Given the description of an element on the screen output the (x, y) to click on. 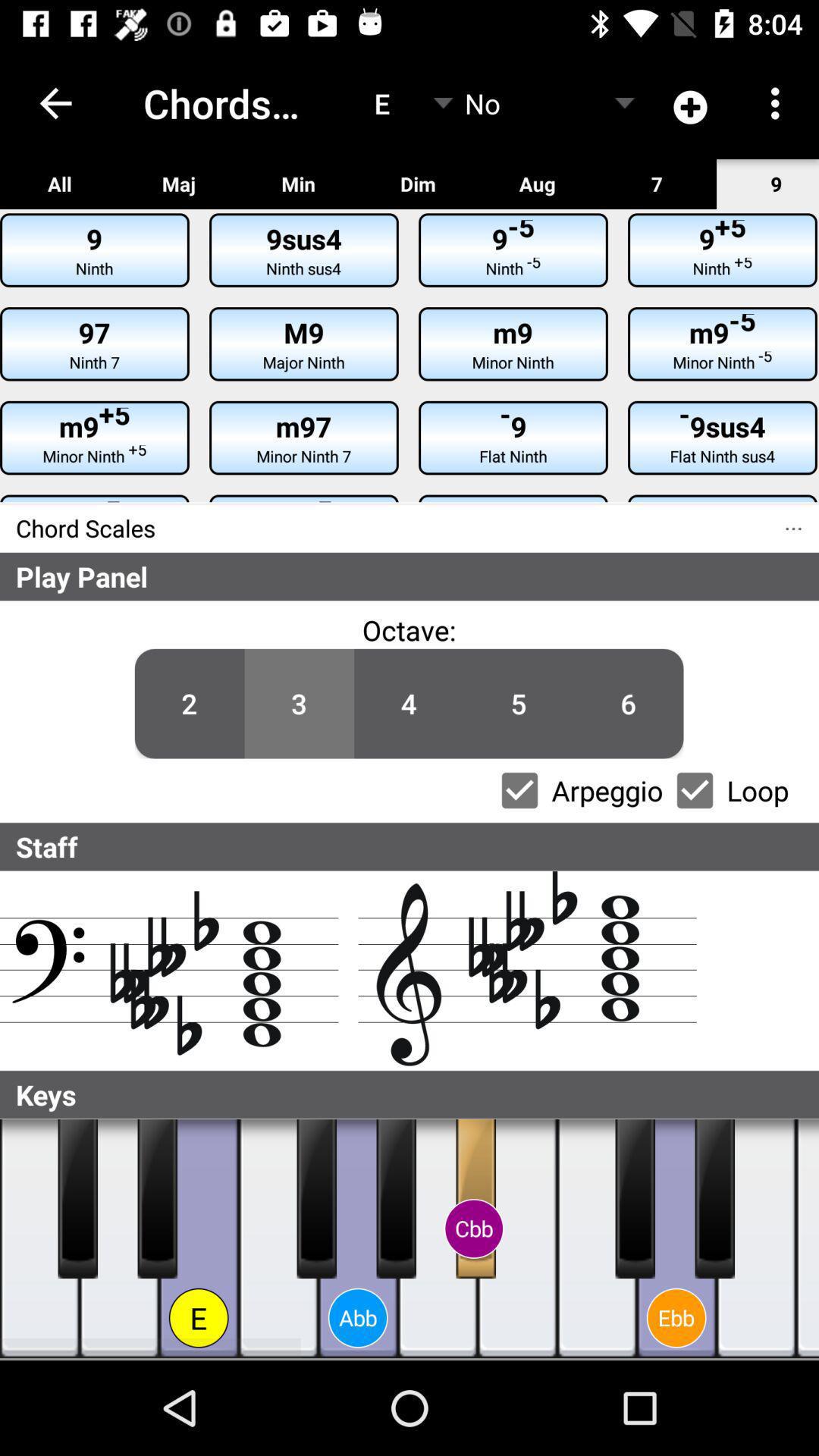
press the item to the left of the chords dictionary item (55, 103)
